Given the description of an element on the screen output the (x, y) to click on. 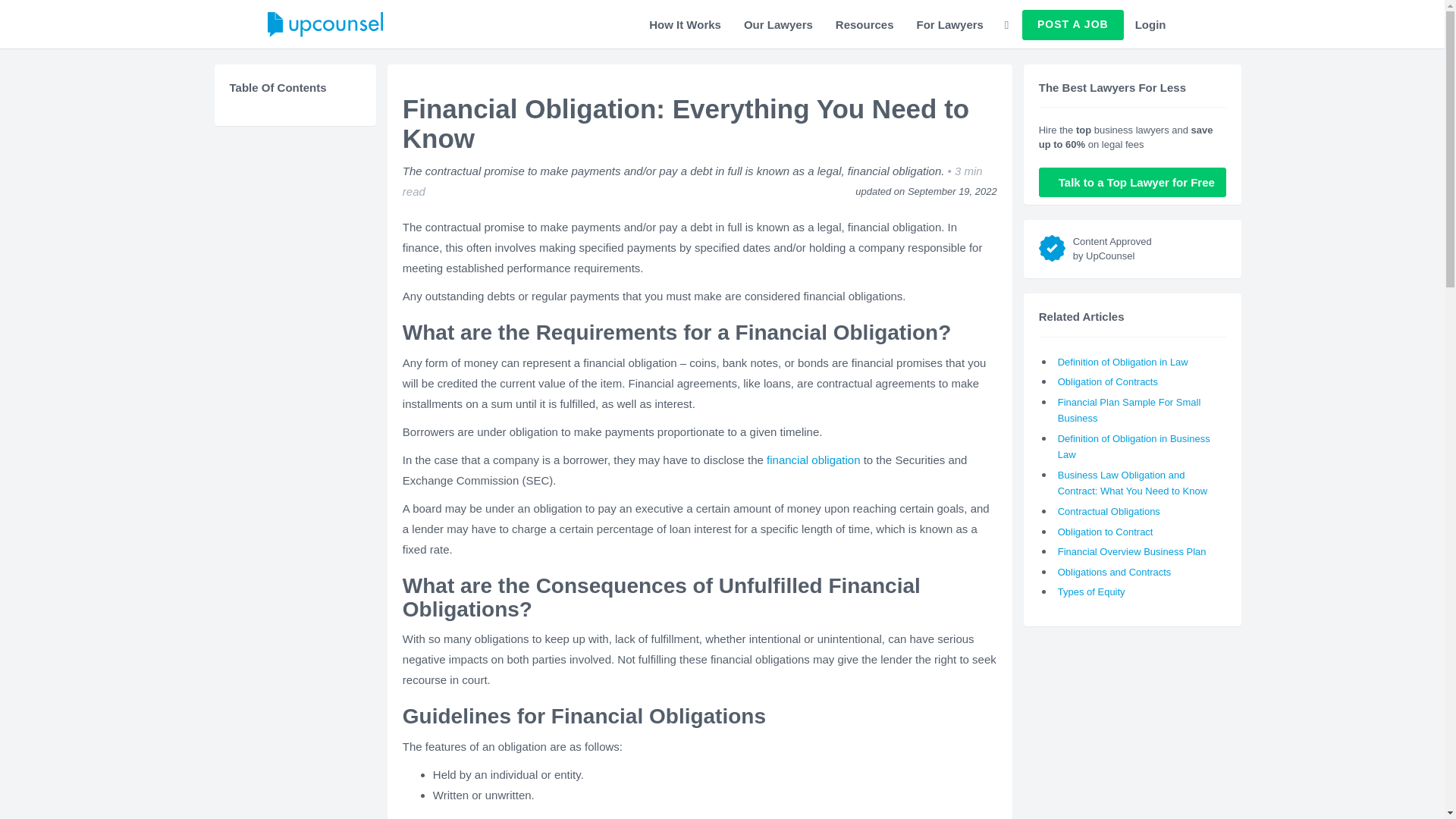
Resources (864, 24)
Business Law Obligation and Contract: What You Need to Know (1132, 483)
Definition of Obligation in Law (1123, 361)
Login (1150, 24)
Contractual Obligations (1109, 511)
financial obligation (813, 459)
Our Lawyers (778, 24)
Obligation of Contracts (1107, 381)
Obligation to Contract (1105, 531)
Financial Plan Sample For Small Business (1129, 410)
